Given the description of an element on the screen output the (x, y) to click on. 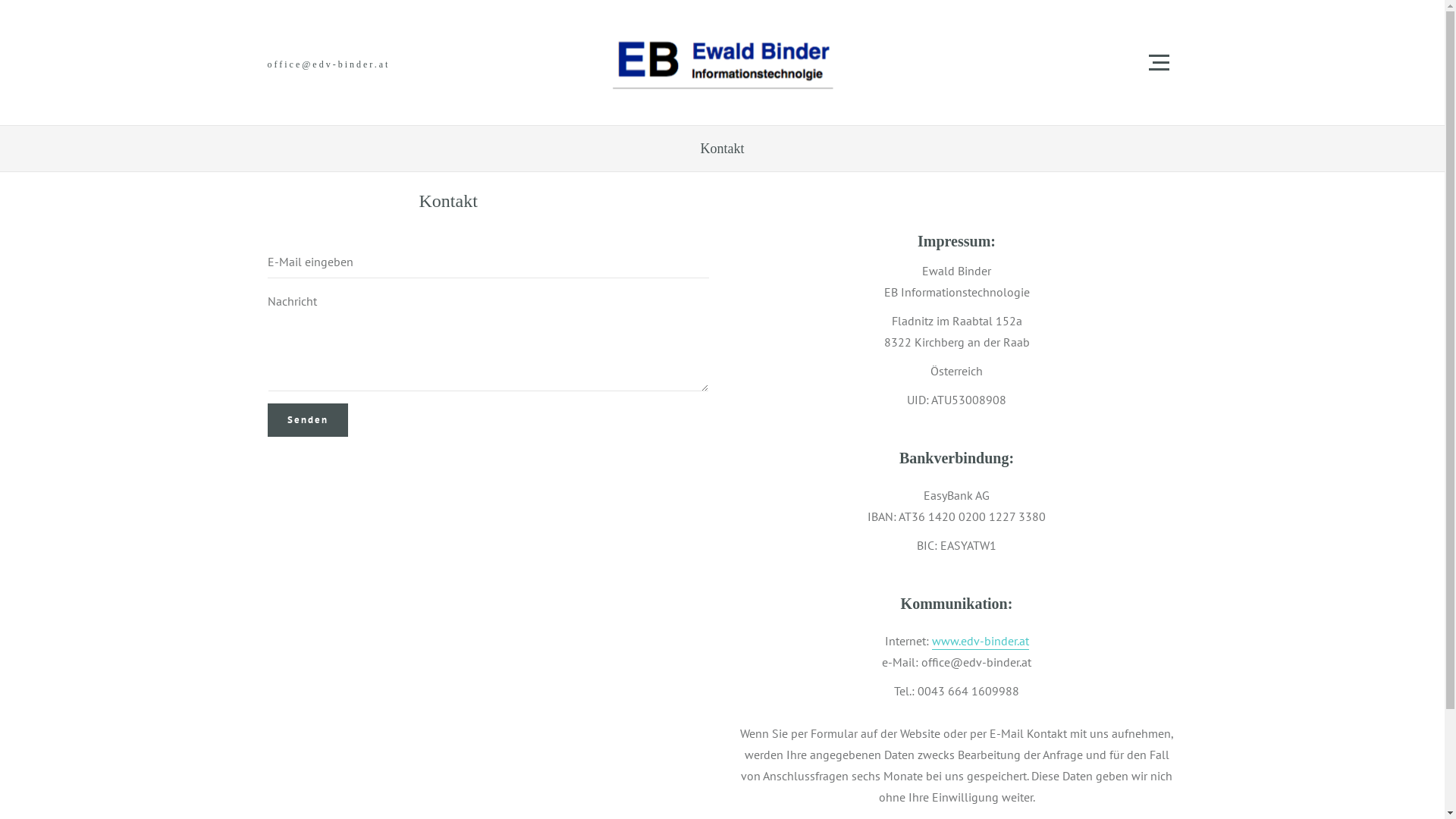
www.edv-binder.at Element type: text (979, 640)
EB Informationstechnologie Element type: hover (722, 62)
Senden Element type: text (306, 419)
office@edv-binder.at Element type: text (327, 64)
